Given the description of an element on the screen output the (x, y) to click on. 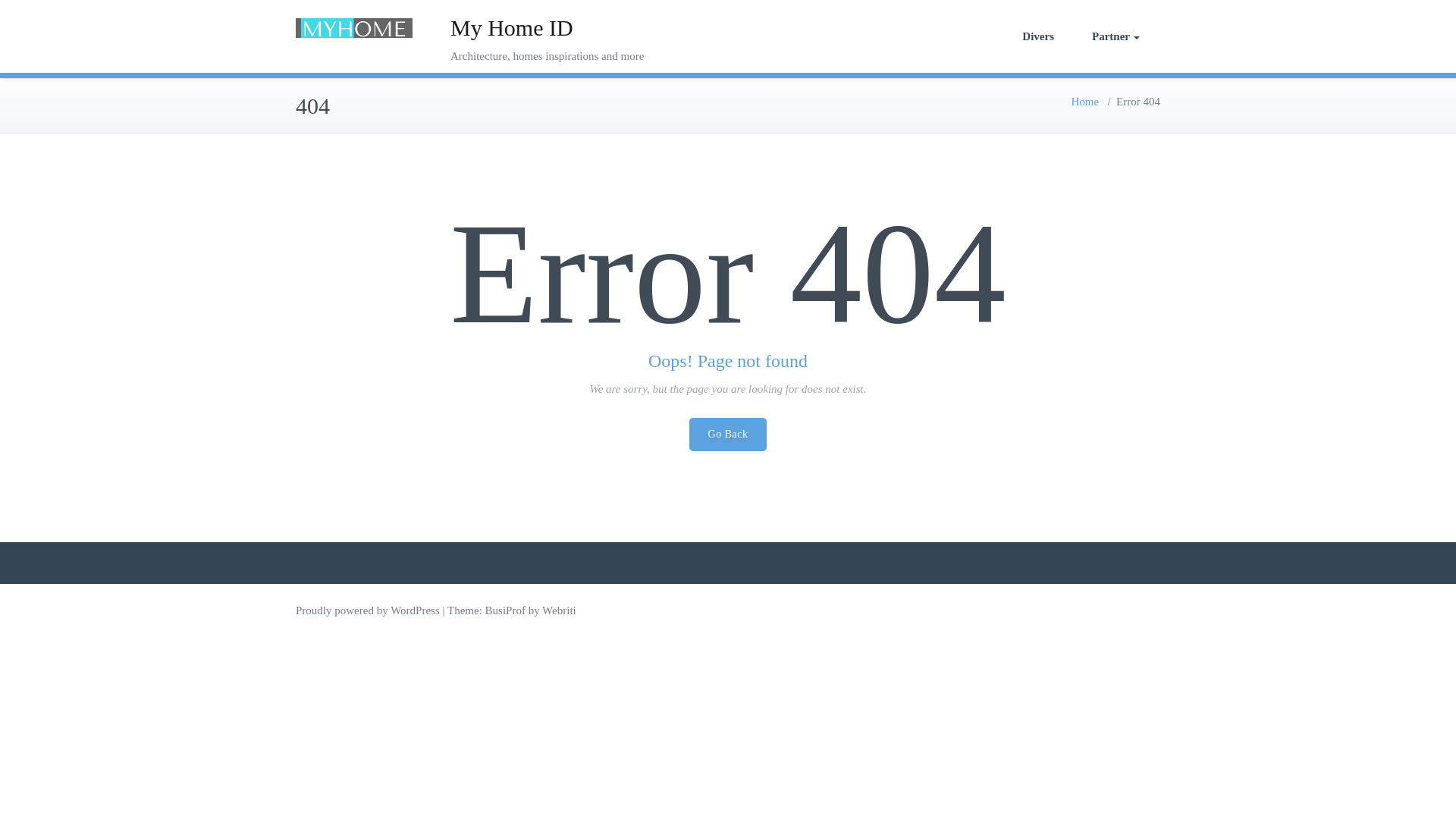
Proudly powered by WordPress (367, 610)
Partner (1115, 36)
BusiProf (504, 610)
Divers (1038, 36)
Home (1084, 101)
Go Back (727, 434)
My Home ID (511, 27)
